Given the description of an element on the screen output the (x, y) to click on. 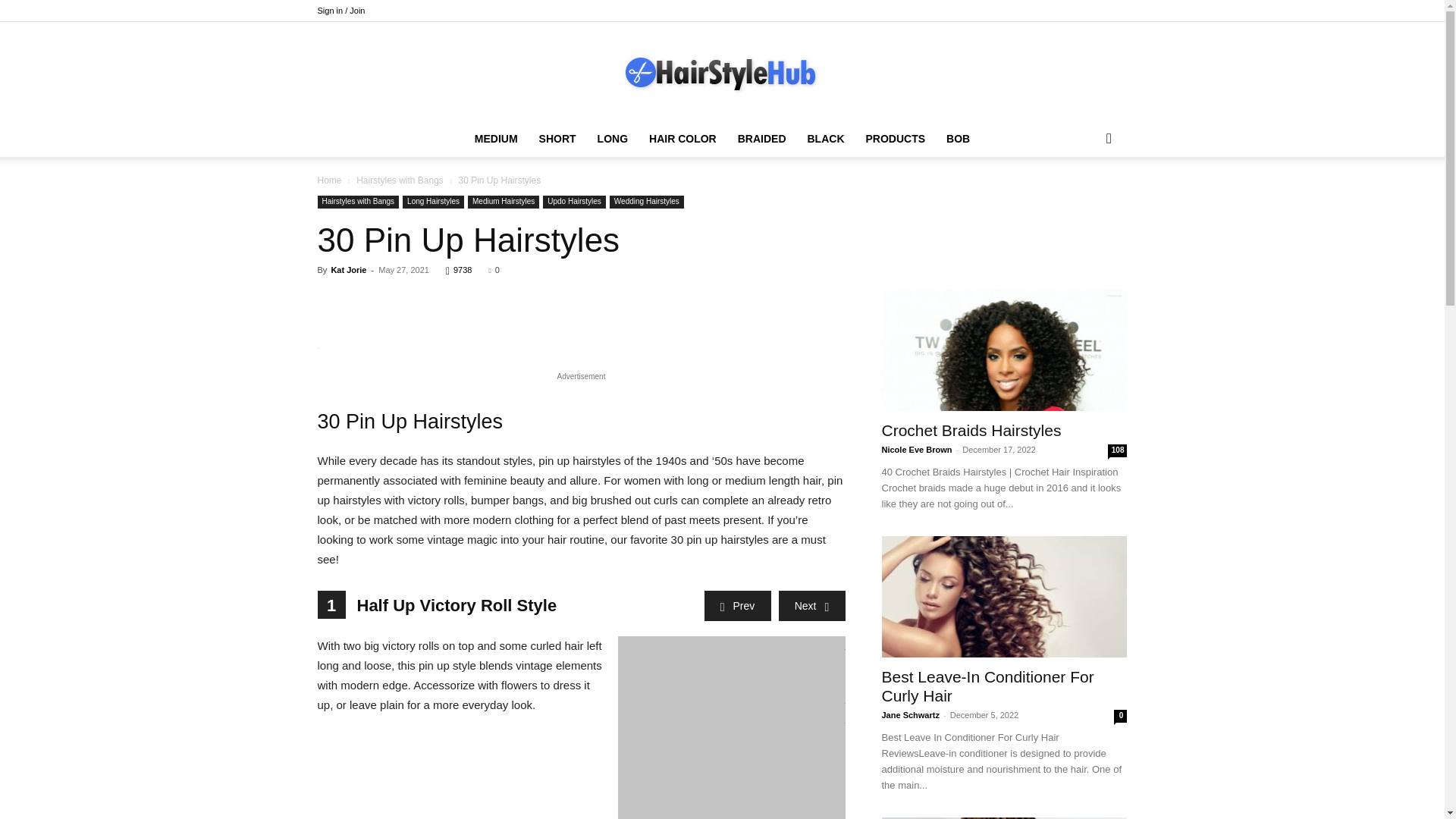
0 (493, 269)
Updo Hairstyles (574, 201)
Hairstyles with Bangs (400, 180)
LONG (612, 138)
Kat Jorie (348, 269)
Hairstyles with Bangs (357, 201)
View all posts in Hairstyles with Bangs (400, 180)
Long Hairstyles (433, 201)
Medium Hairstyles (502, 201)
